Given the description of an element on the screen output the (x, y) to click on. 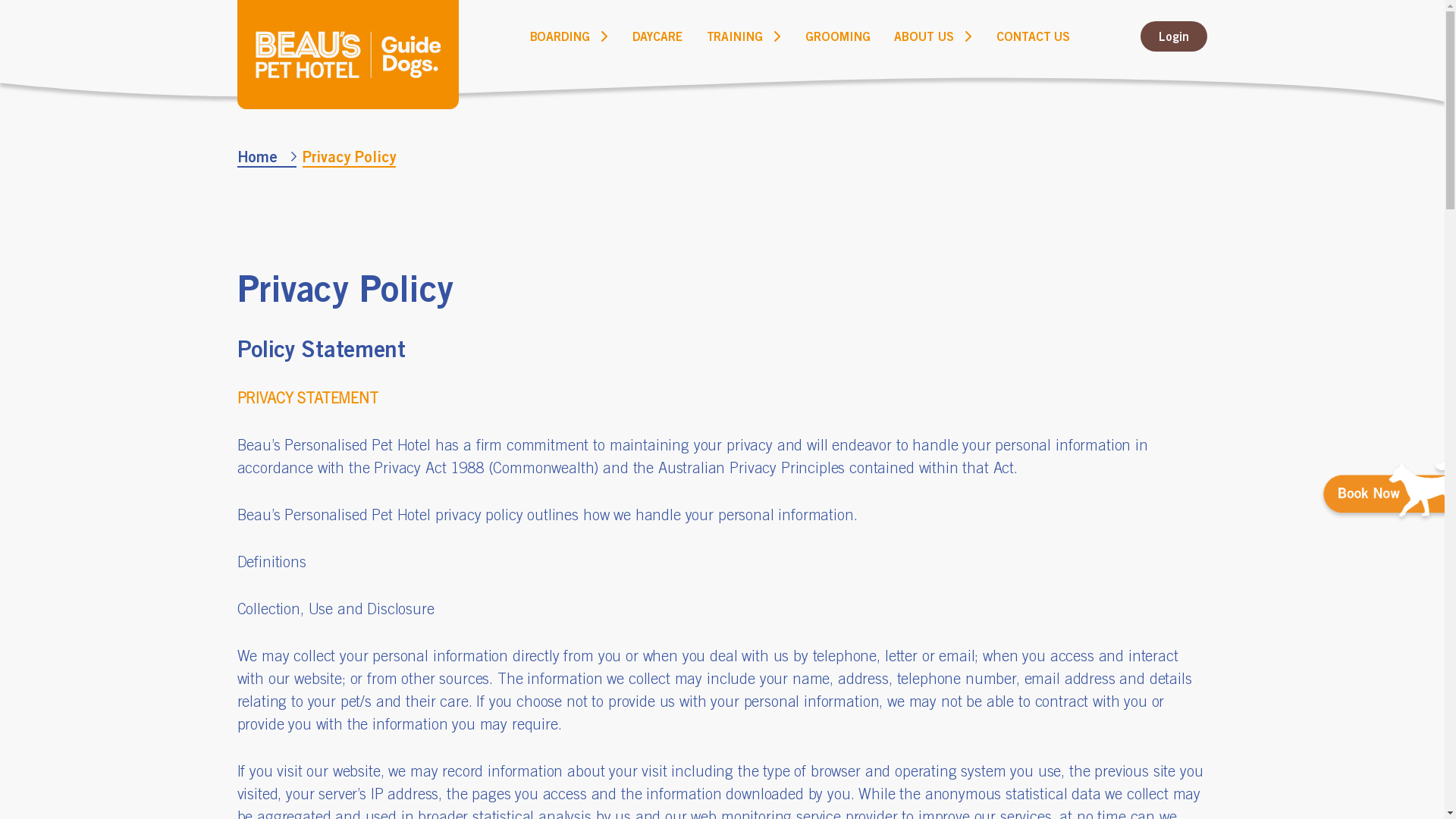
TRAINING Element type: text (734, 36)
Login Element type: text (1173, 36)
ABOUT US Element type: text (923, 36)
Home Element type: text (265, 157)
CONTACT US Element type: text (1033, 36)
DAYCARE Element type: text (657, 36)
GROOMING Element type: text (837, 36)
Privacy Policy Element type: text (349, 157)
BOARDING Element type: text (560, 36)
